Given the description of an element on the screen output the (x, y) to click on. 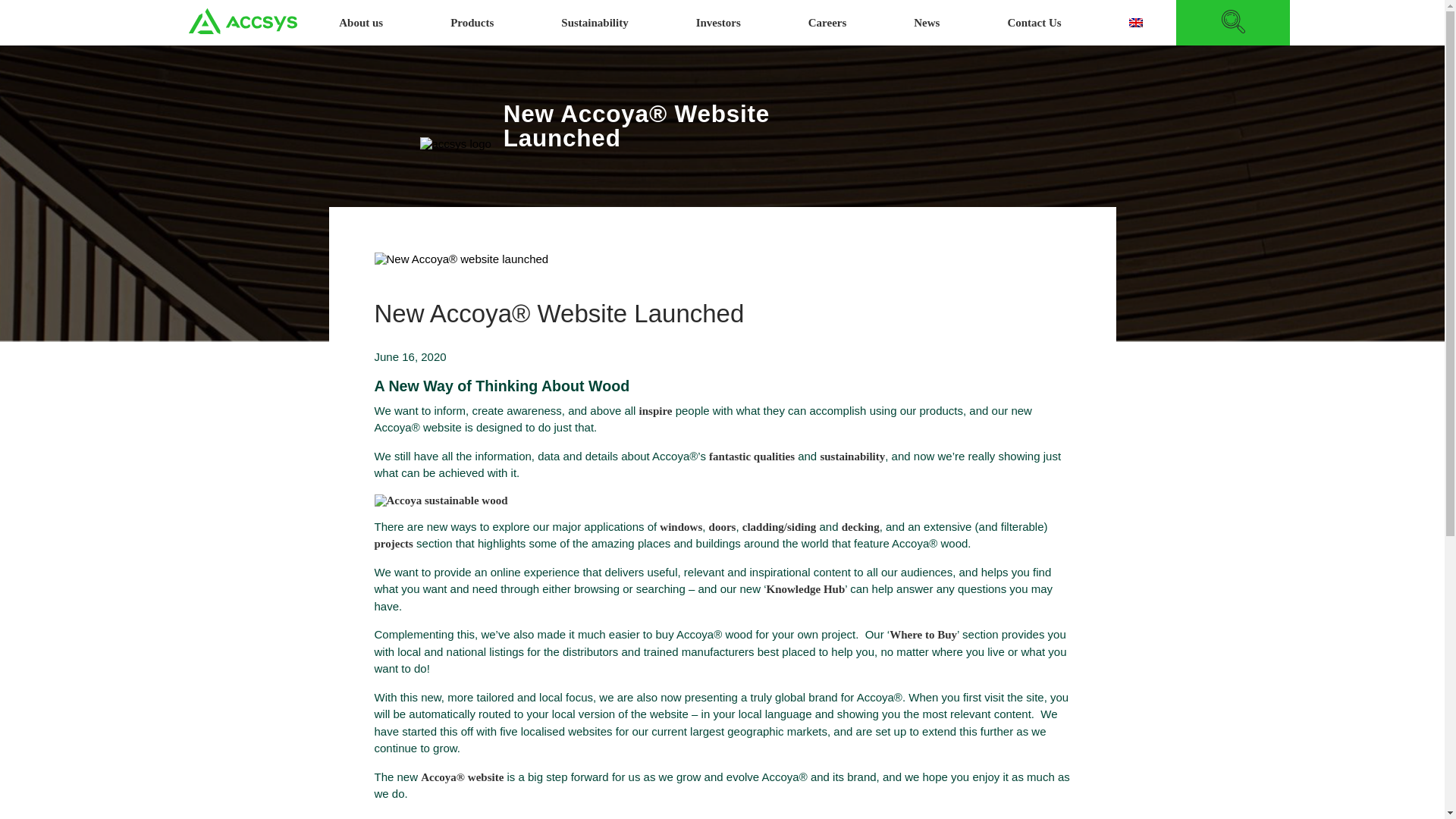
Products (471, 22)
Careers (826, 22)
About us (360, 22)
Investors (718, 22)
Contact Us (1034, 22)
News (927, 22)
Sustainability (594, 22)
